Given the description of an element on the screen output the (x, y) to click on. 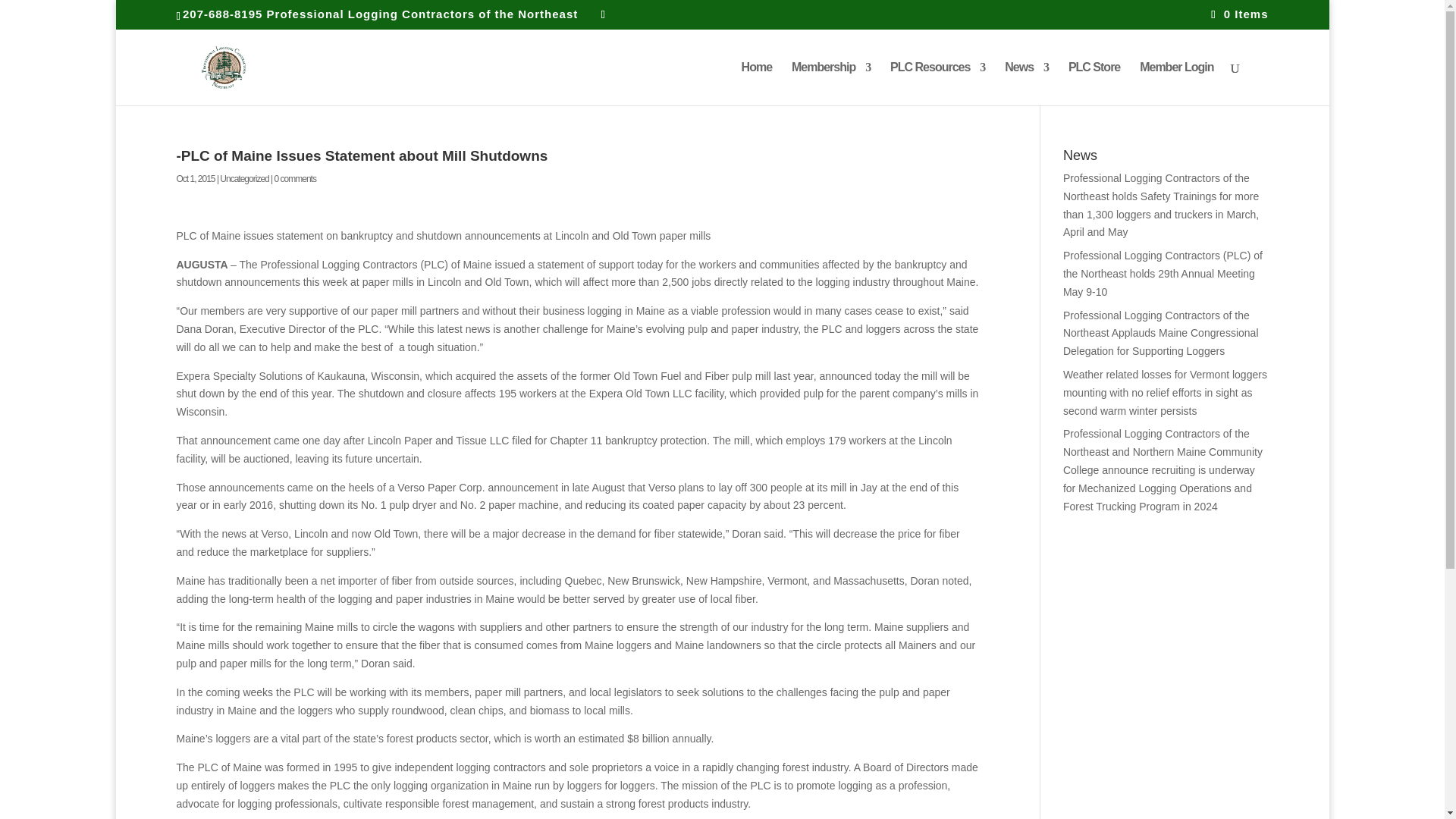
Membership (831, 83)
PLC Resources (937, 83)
Member Login (1176, 83)
PLC Store (1093, 83)
News (1026, 83)
0 Items (1239, 13)
